Given the description of an element on the screen output the (x, y) to click on. 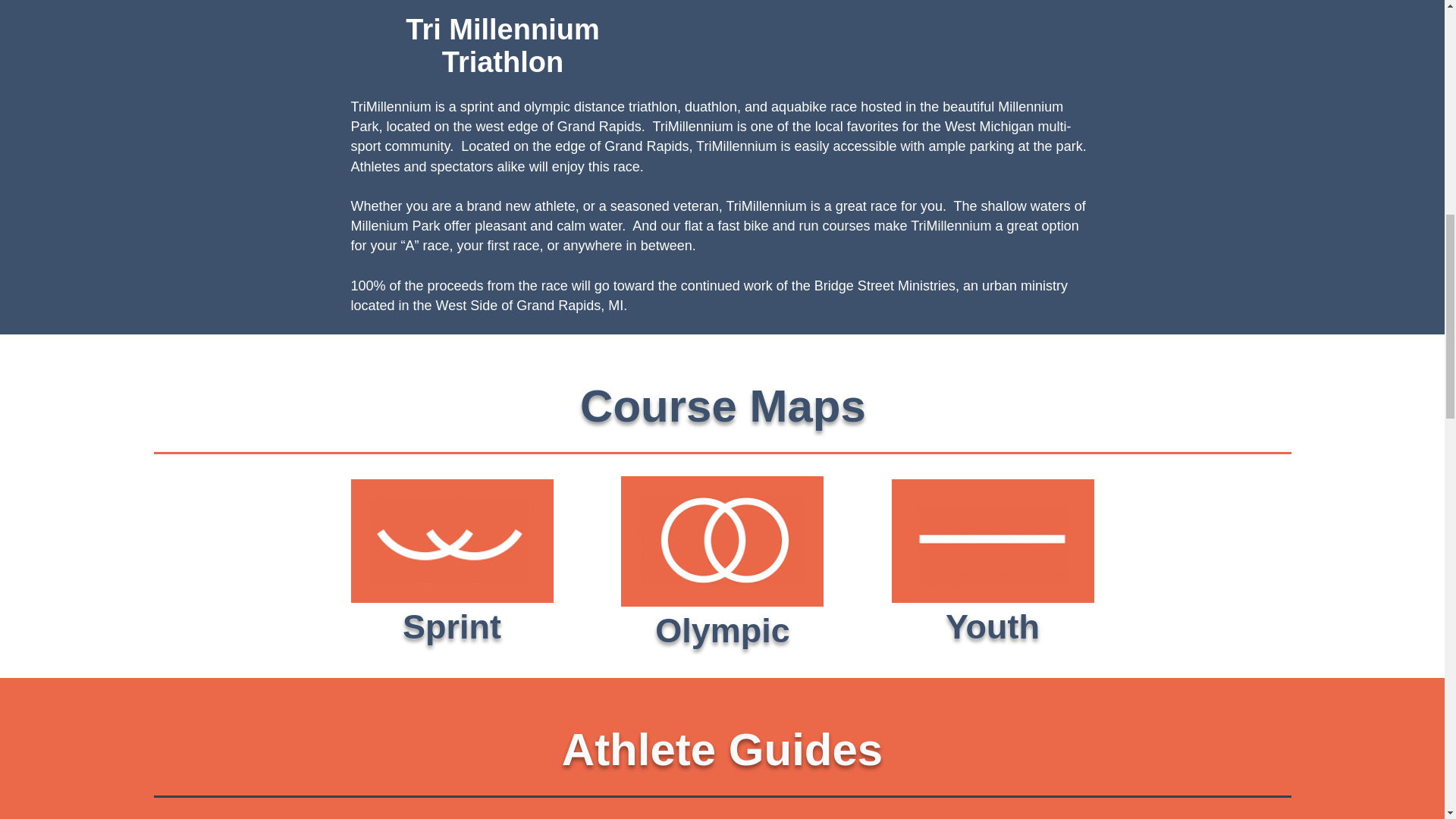
Sprint (451, 626)
Youth (991, 626)
Olympic (722, 630)
